Given the description of an element on the screen output the (x, y) to click on. 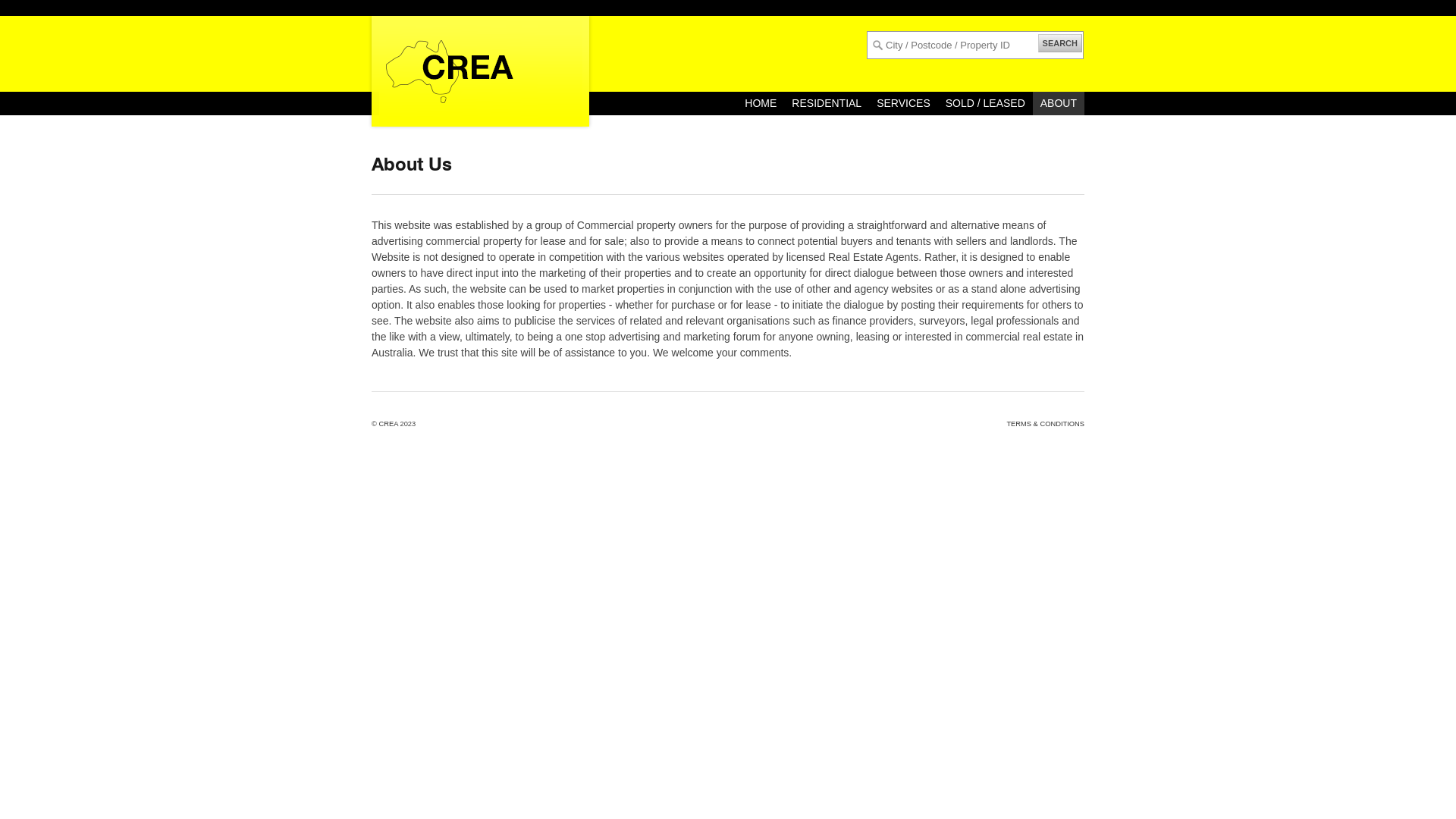
SERVICES Element type: text (903, 103)
SEARCH Element type: text (1060, 43)
SOLD / LEASED Element type: text (985, 103)
HOME Element type: text (760, 103)
Commercial Real Estate Australia Element type: text (480, 68)
CREA Element type: text (387, 423)
ABOUT Element type: text (1058, 103)
TERMS & CONDITIONS Element type: text (1045, 423)
Search Element type: text (32, 12)
RESIDENTIAL Element type: text (826, 103)
